Given the description of an element on the screen output the (x, y) to click on. 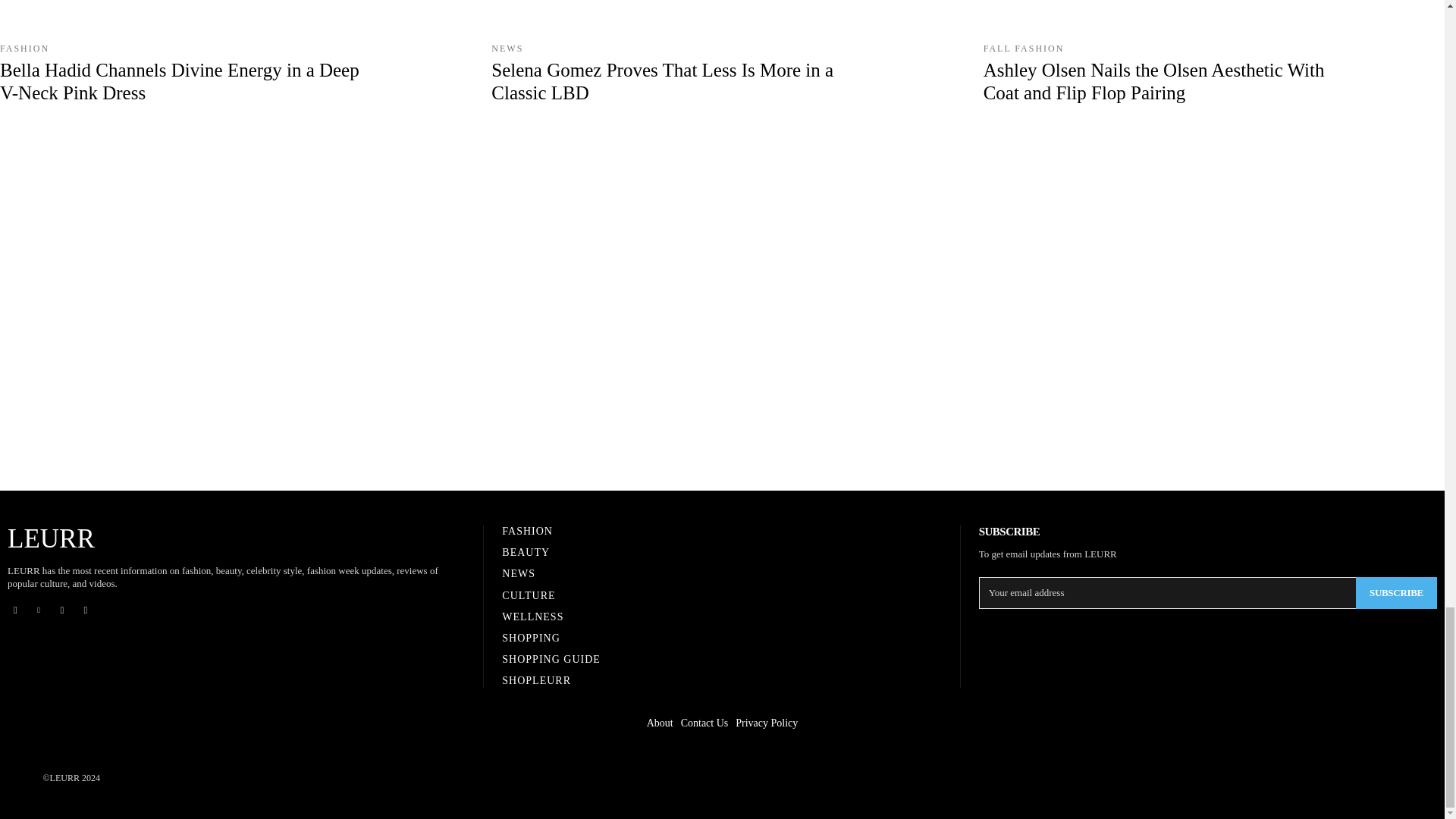
FASHION (24, 48)
Selena Gomez Proves That Less Is More in a Classic LBD (722, 35)
Selena Gomez Proves That Less Is More in a Classic LBD (662, 81)
